Given the description of an element on the screen output the (x, y) to click on. 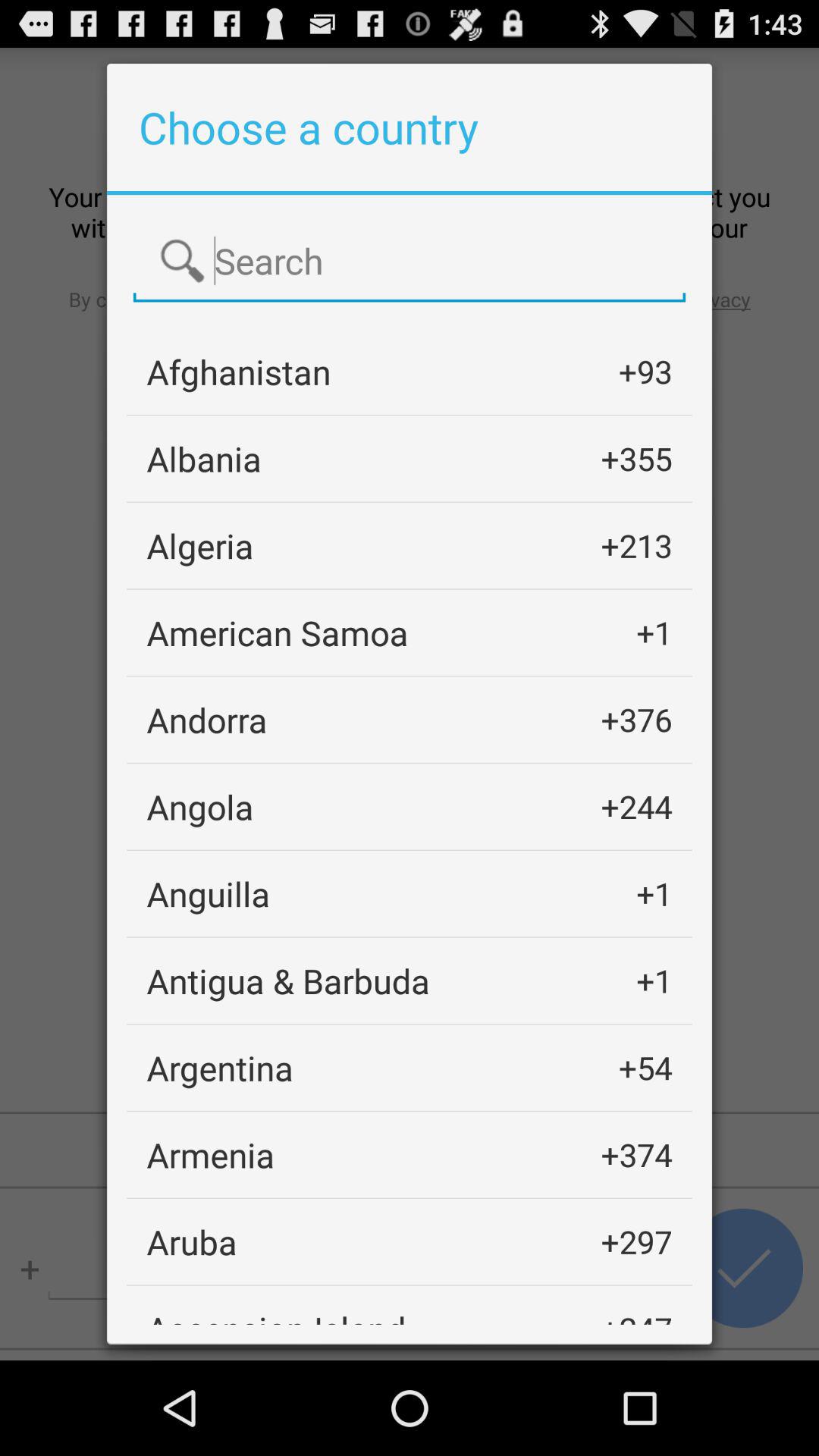
search for country (409, 261)
